Given the description of an element on the screen output the (x, y) to click on. 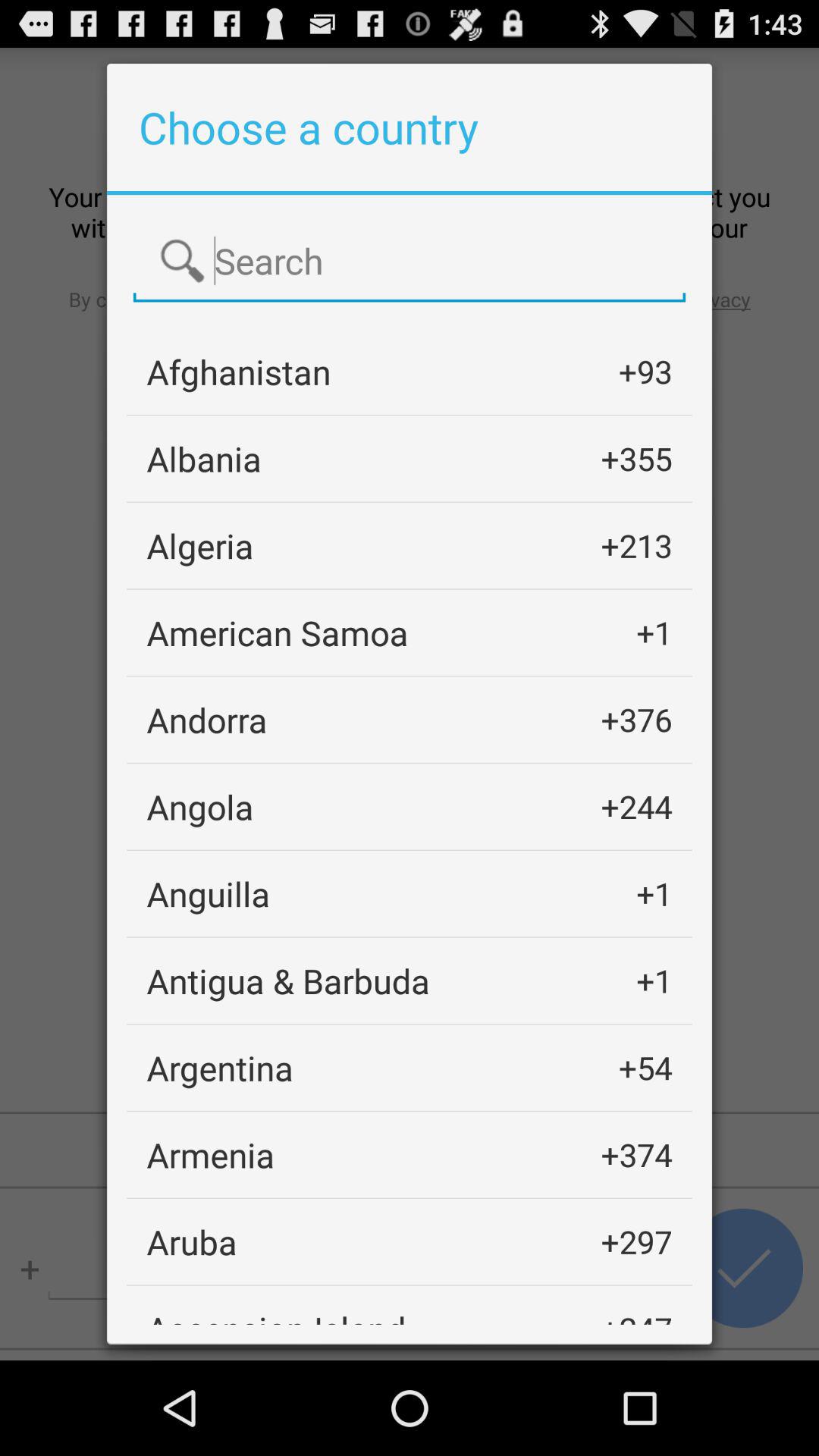
search for country (409, 261)
